Given the description of an element on the screen output the (x, y) to click on. 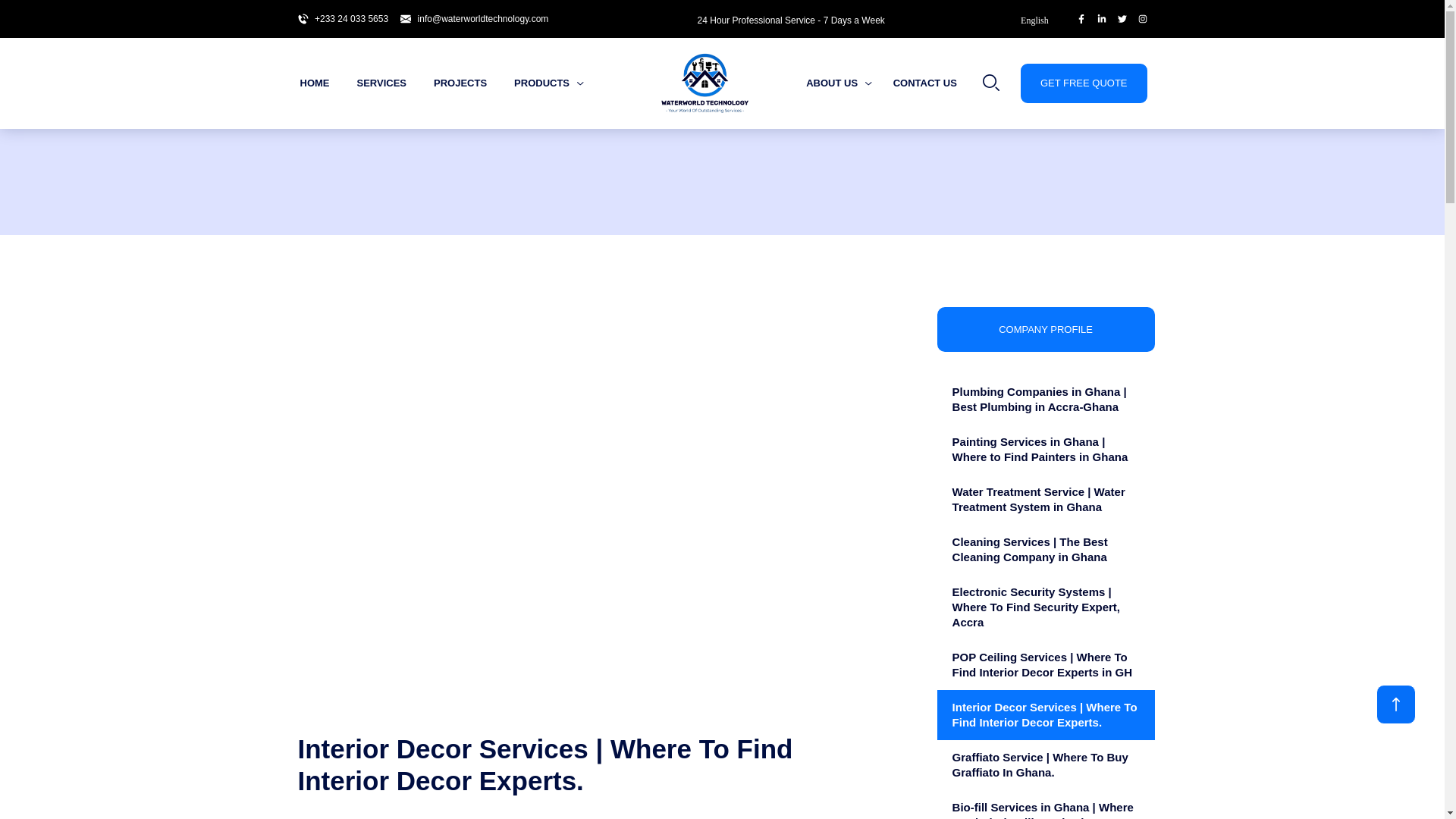
PRODUCTS (559, 83)
English (1044, 20)
PROJECTS (471, 83)
CONTACT US (925, 83)
HOME (325, 83)
SERVICES (392, 83)
ABOUT US (838, 83)
English (1044, 20)
